Given the description of an element on the screen output the (x, y) to click on. 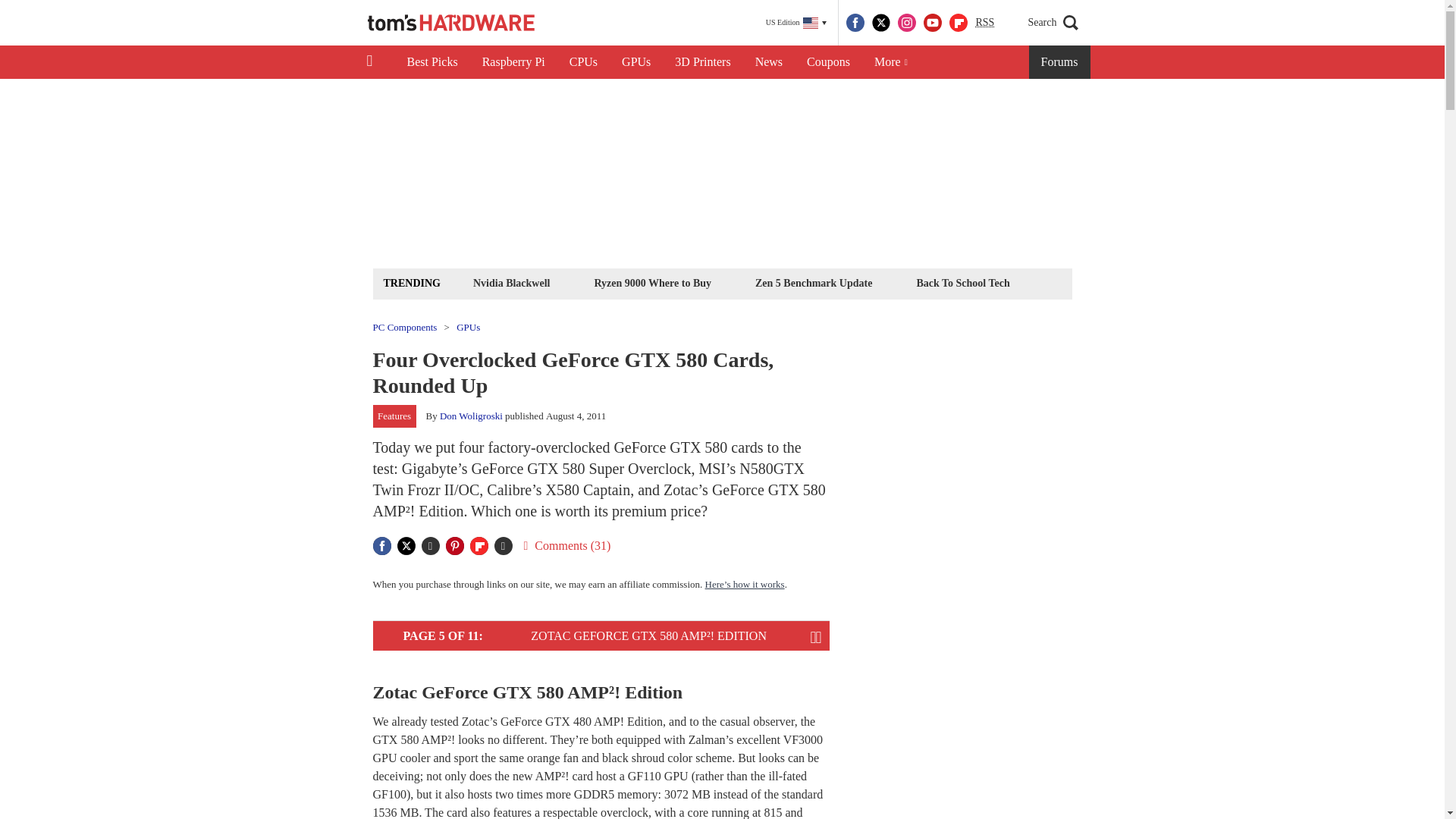
US Edition (796, 22)
Coupons (827, 61)
Forums (1059, 61)
News (768, 61)
Really Simple Syndication (984, 21)
Best Picks (431, 61)
3D Printers (702, 61)
CPUs (583, 61)
Raspberry Pi (513, 61)
RSS (984, 22)
